Given the description of an element on the screen output the (x, y) to click on. 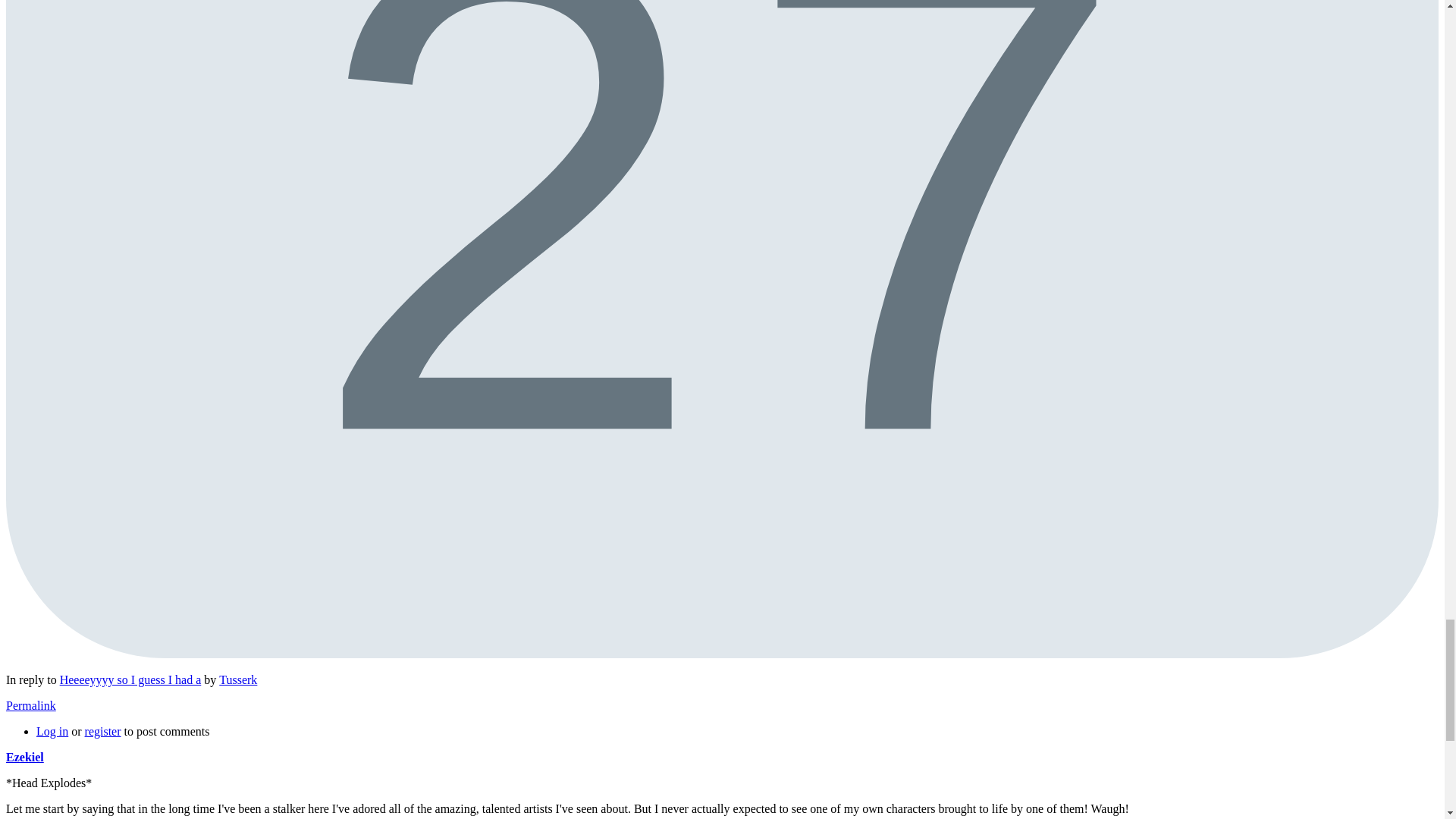
View user profile. (238, 679)
View user profile. (24, 757)
Heeeeyyyy so I guess I had a (130, 679)
Tusserk (238, 679)
Log in (52, 730)
Ezekiel (24, 757)
Permalink (30, 705)
register (102, 730)
